Given the description of an element on the screen output the (x, y) to click on. 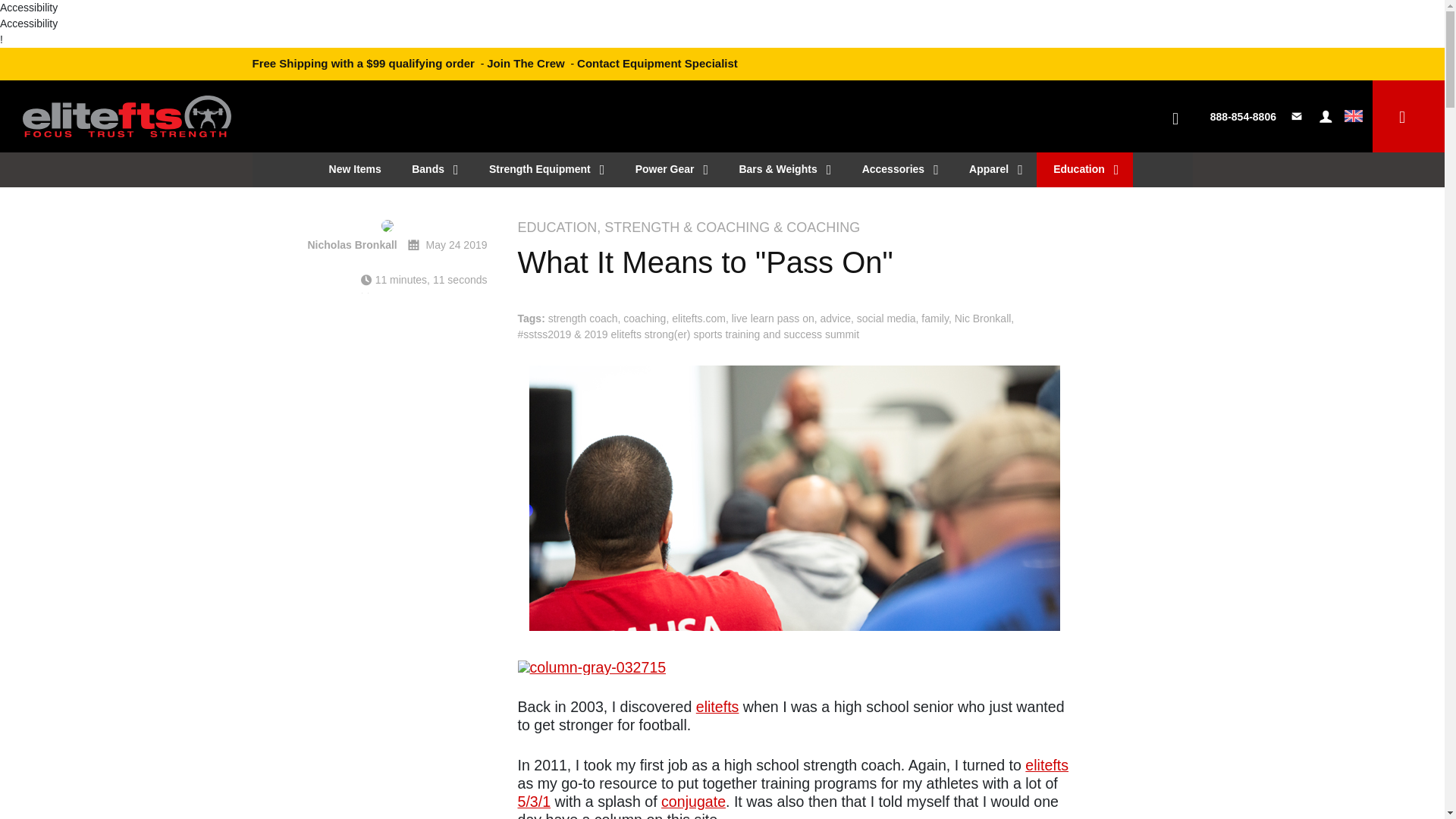
Contact Equipment Specialist (657, 62)
Bands (432, 168)
What It Means to "Pass On" (793, 262)
New Items (352, 168)
Visit EliteFTS - UK (1352, 116)
email us (1297, 116)
login - create account (1325, 116)
EliteFTS (127, 109)
Join The Crew (525, 62)
